Given the description of an element on the screen output the (x, y) to click on. 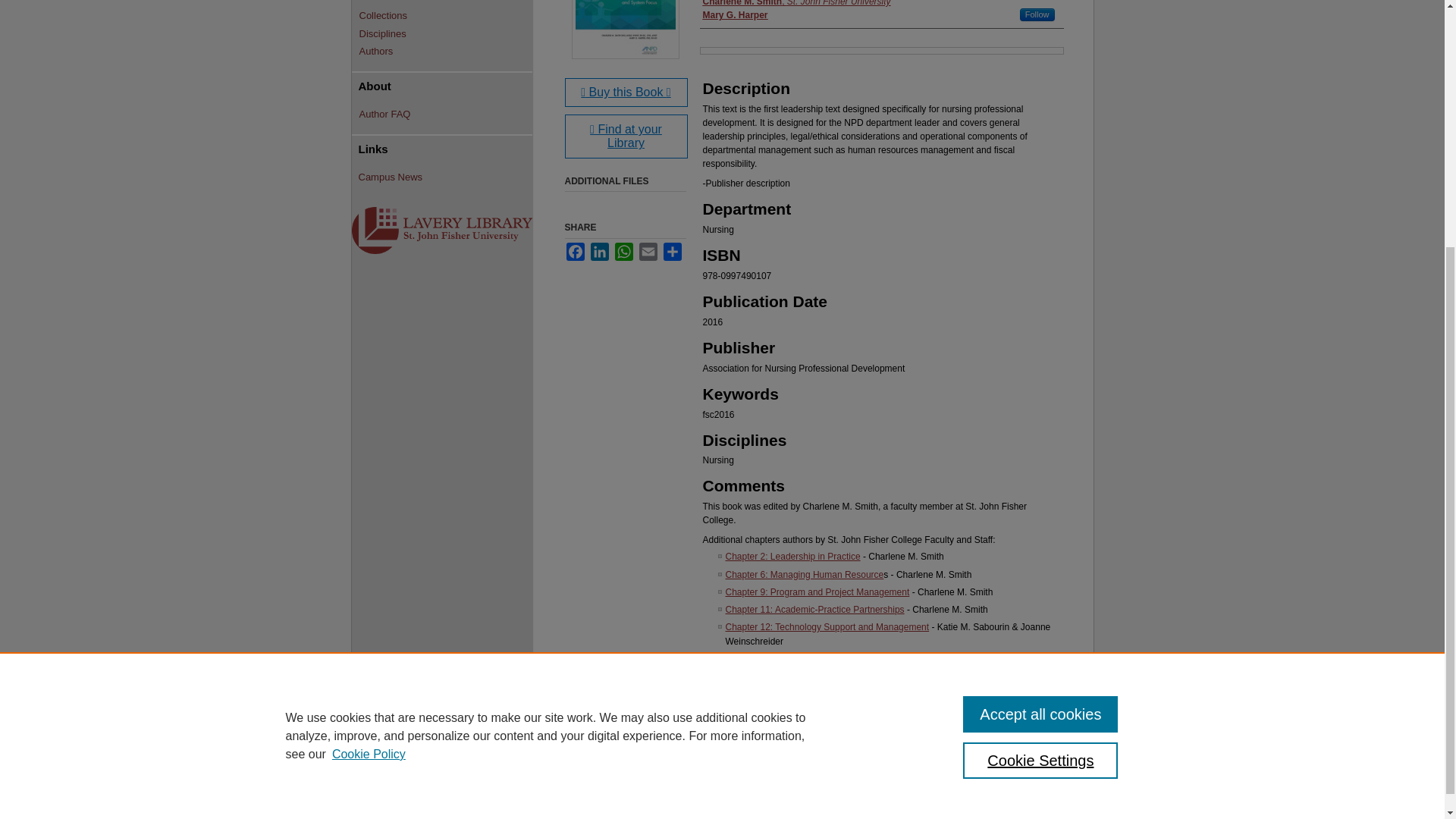
Follow (1037, 14)
Browse by Disciplines (445, 33)
Chapter 2: Leadership in Practice (792, 556)
Find at your Library (625, 136)
Email (647, 251)
Chapter 12: Technology Support and Management (826, 626)
LinkedIn (599, 251)
Chapter 11: Academic-Practice Partnerships (814, 609)
Mary G. Harper (734, 15)
Browse by Collections (445, 15)
Buy this Book (625, 92)
Charlene M. Smith, St. John Fisher University (795, 4)
Find at your Library (625, 136)
Share (671, 251)
Chapter 6: Managing Human Resource (804, 573)
